Given the description of an element on the screen output the (x, y) to click on. 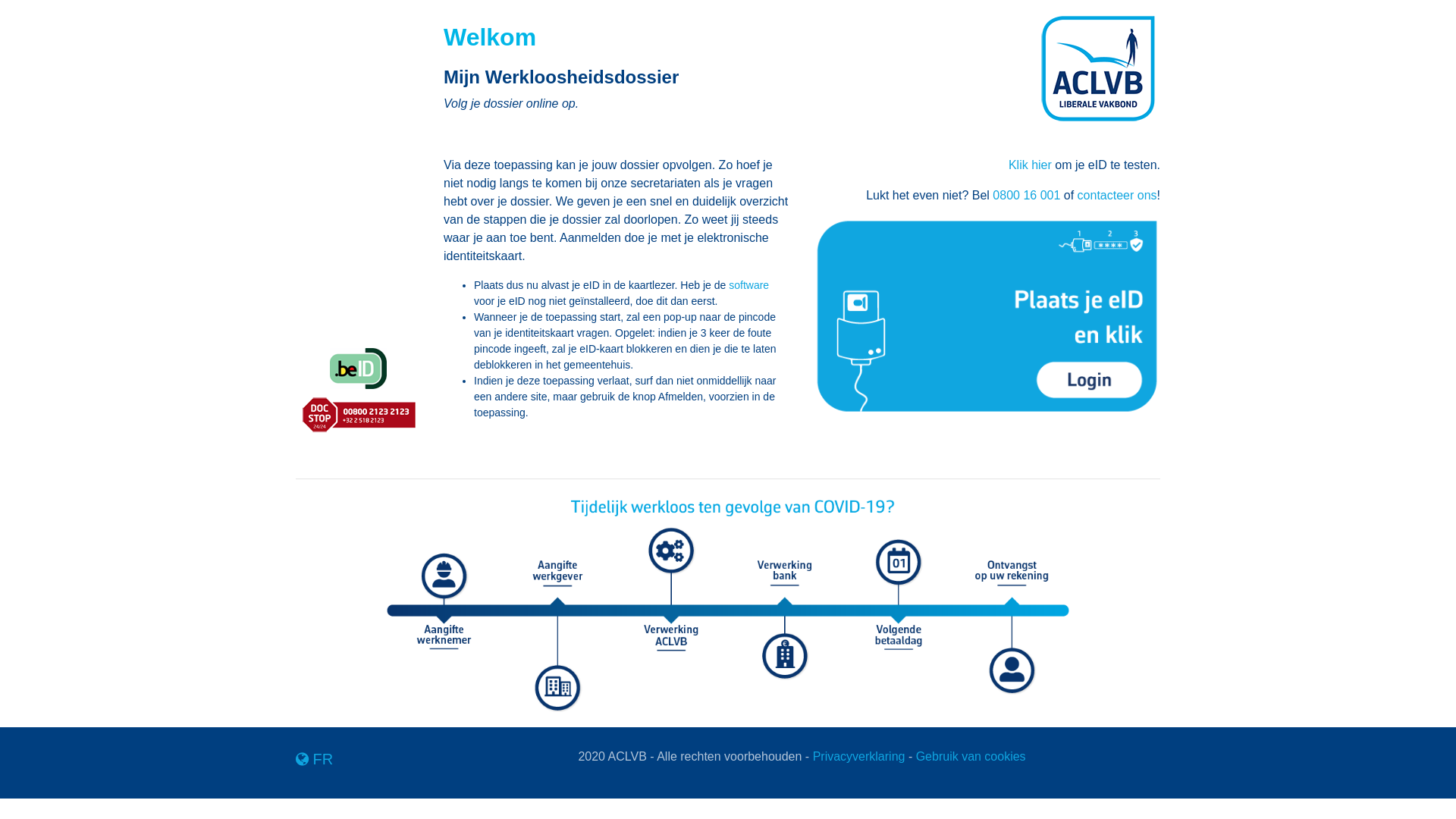
0800 16 001 Element type: text (1026, 194)
Gebruik van cookies Element type: text (971, 755)
Klik hier Element type: text (1029, 164)
software Element type: text (748, 285)
contacteer ons Element type: text (1117, 194)
Privacyverklaring Element type: text (858, 755)
FR Element type: text (310, 758)
